Given the description of an element on the screen output the (x, y) to click on. 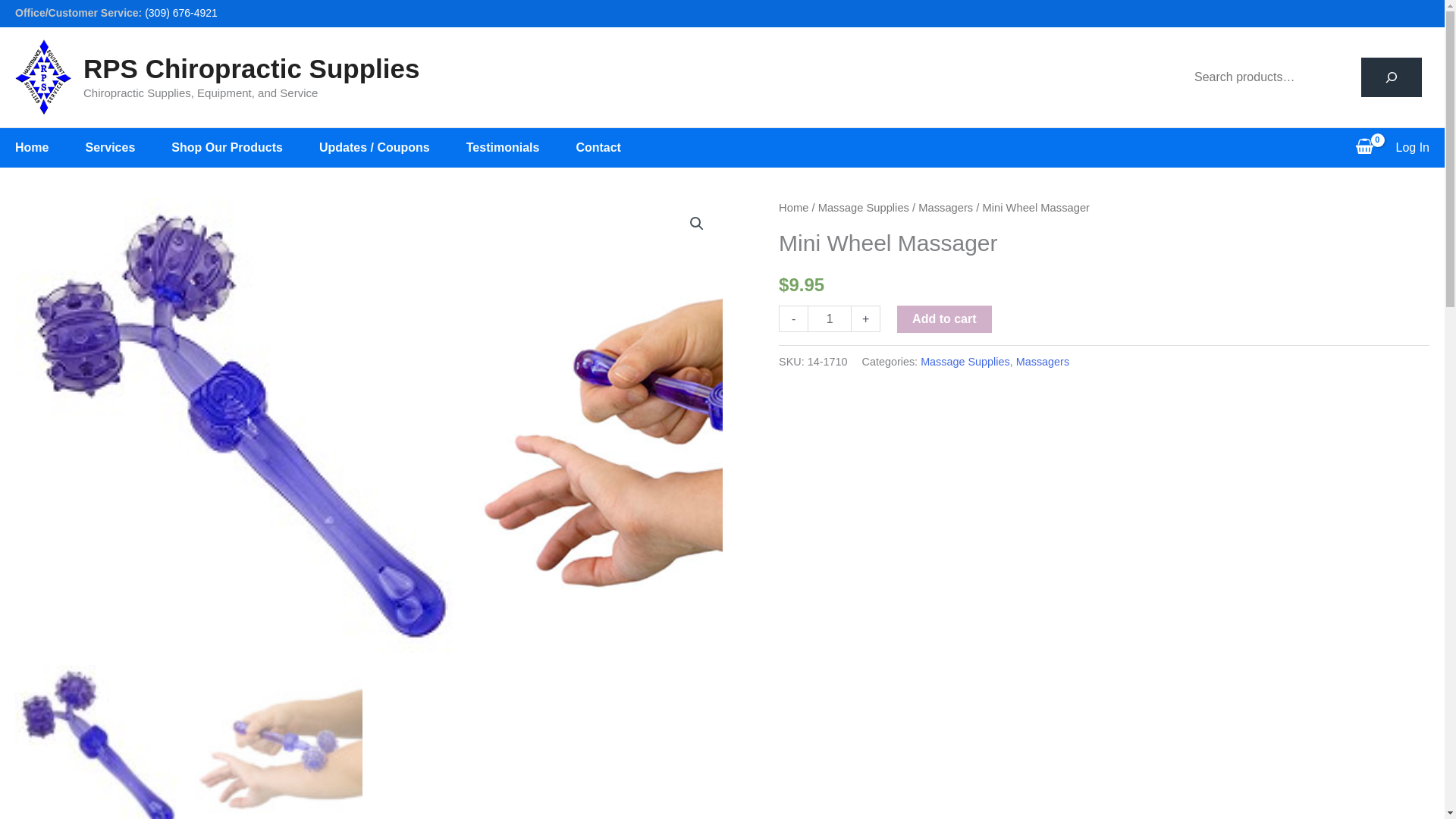
Massagers (1042, 361)
Contact (616, 147)
Massagers (945, 207)
1 (829, 318)
Log In (1412, 147)
Add to cart (943, 318)
Massage Supplies (863, 207)
Shop Our Products (244, 147)
Home (49, 147)
Testimonials (520, 147)
Home (793, 207)
RPS Chiropractic Supplies (250, 68)
PayPal Message 1 (1103, 389)
Services (127, 147)
